Given the description of an element on the screen output the (x, y) to click on. 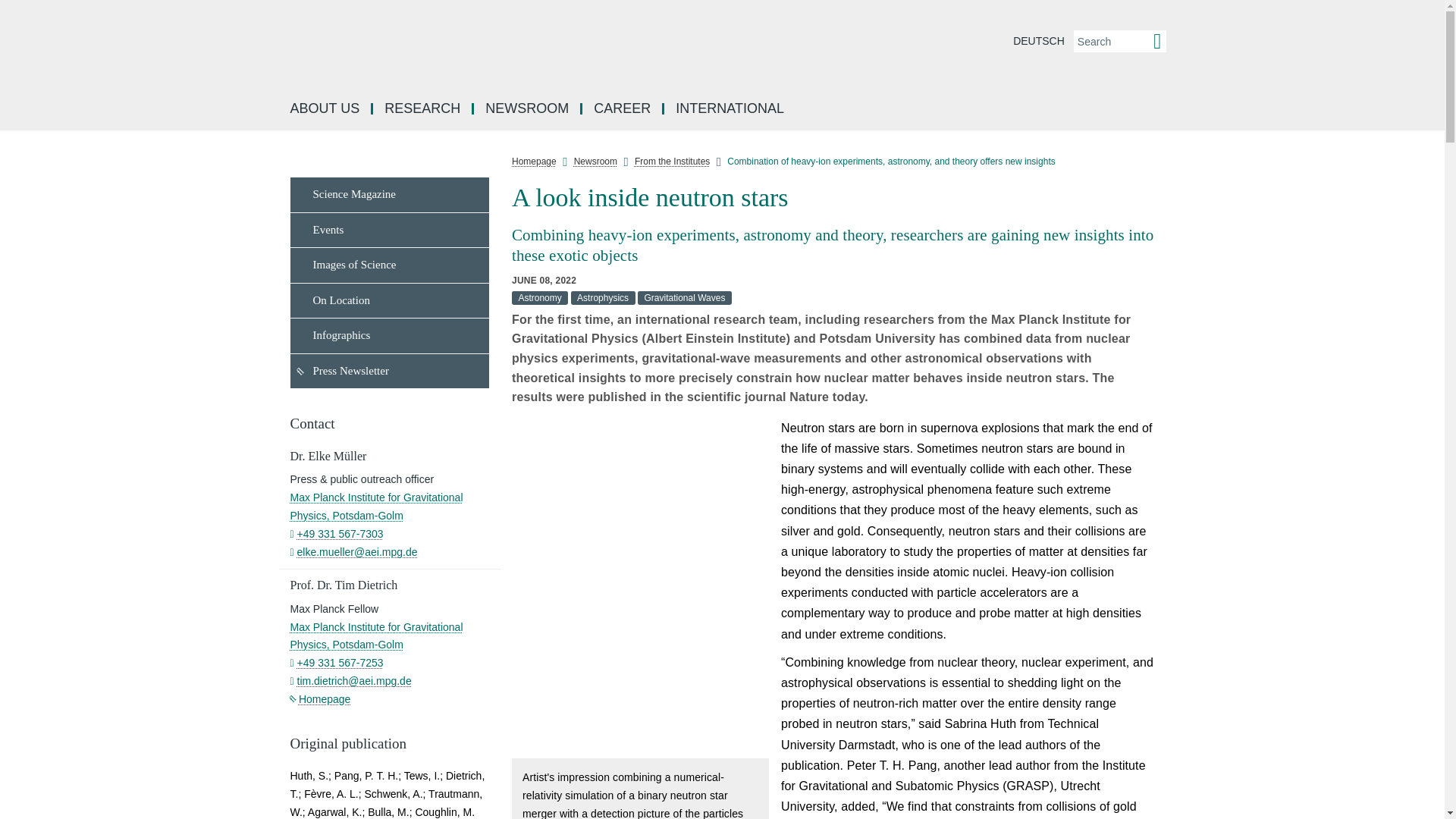
opens zoom view (755, 747)
Reddit (1177, 252)
ABOUT US (326, 108)
Facebook (1177, 184)
E-Mail (1177, 354)
opens zoom view (640, 587)
DEUTSCH (1038, 41)
Print (1177, 389)
Homepage (319, 698)
LinkedIn (1177, 219)
Twitter (1177, 287)
Xing (1177, 321)
